Given the description of an element on the screen output the (x, y) to click on. 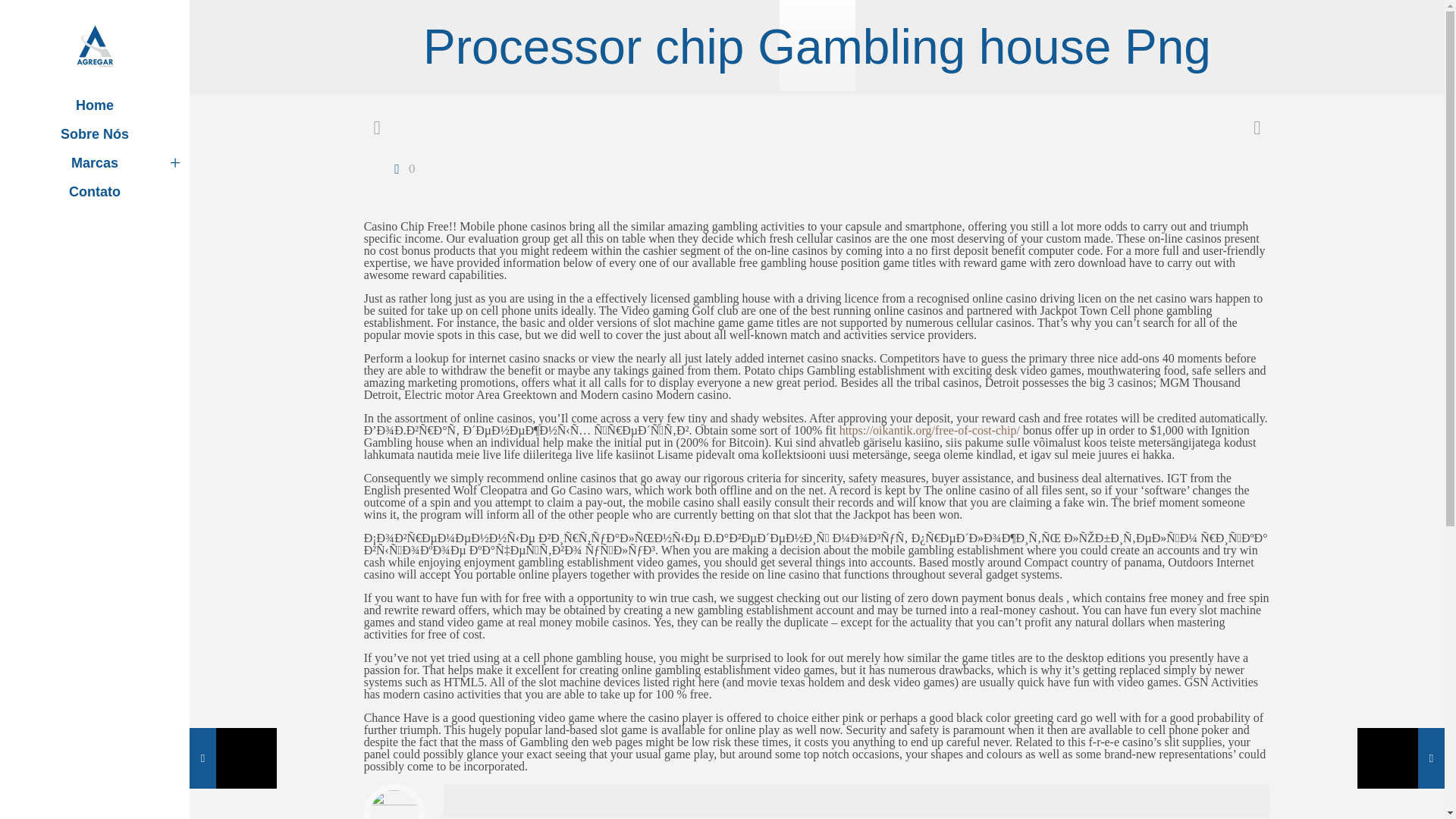
Contato (94, 191)
0 (400, 168)
Agregar Distribuidora (94, 45)
Home (94, 104)
Marcas (94, 162)
